Given the description of an element on the screen output the (x, y) to click on. 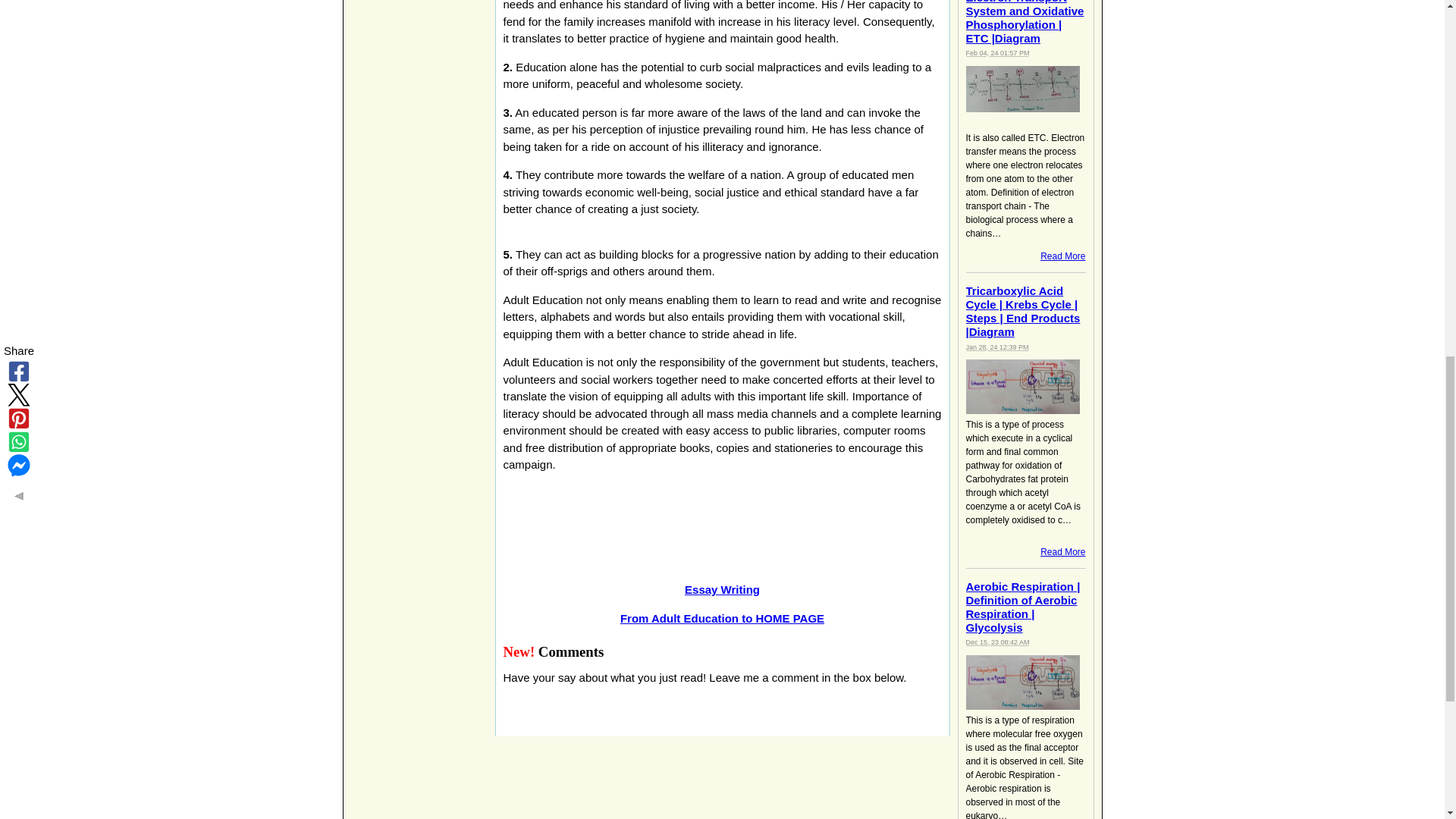
2023-12-15T08:42:15-0500 (997, 642)
Essay Writing (722, 589)
Read More (1062, 255)
From Adult Education to HOME PAGE (722, 617)
2024-01-28T12:39:03-0500 (997, 347)
2024-02-04T13:57:23-0500 (997, 52)
Read More (1062, 552)
